Given the description of an element on the screen output the (x, y) to click on. 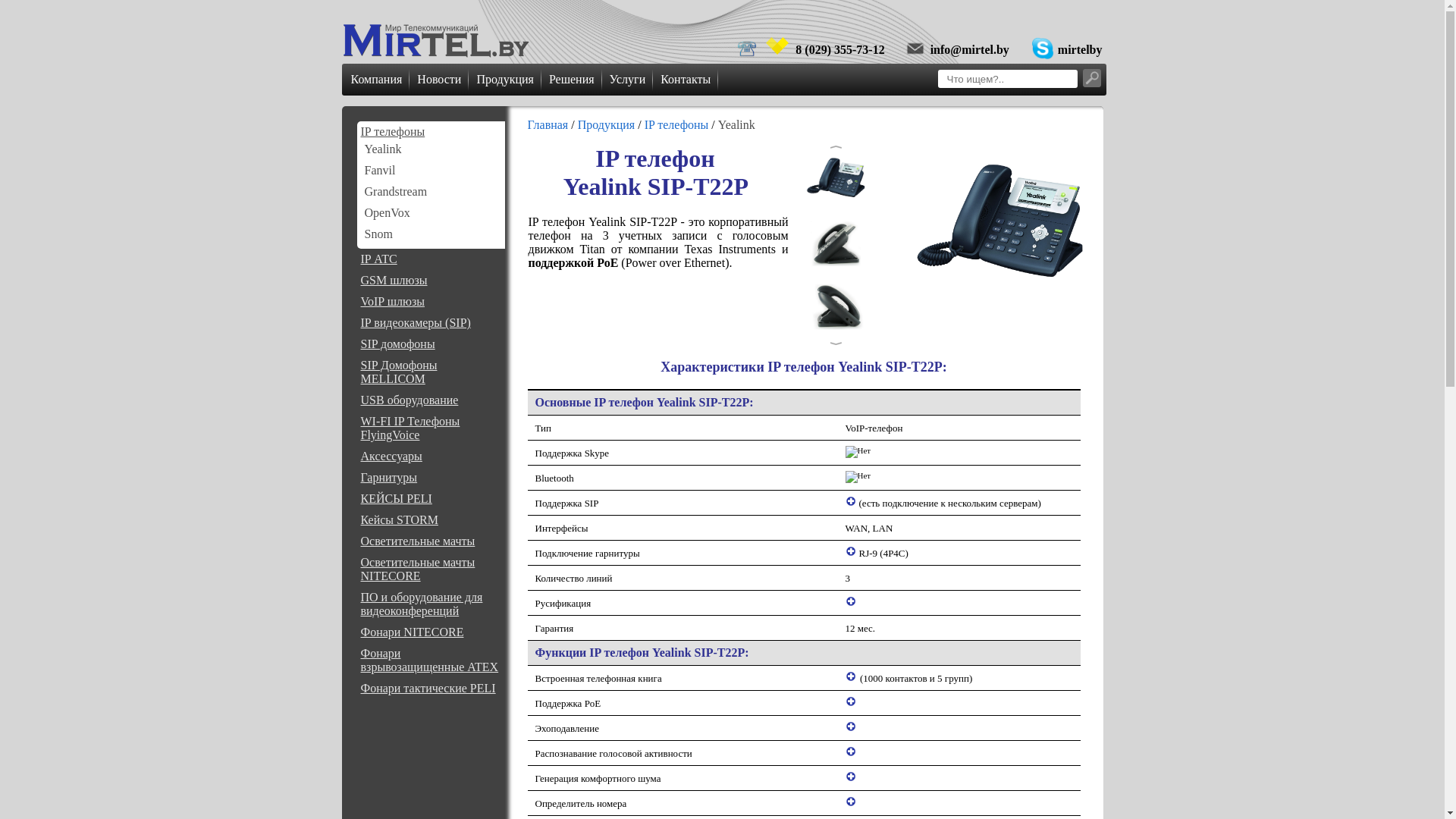
Snom Element type: text (378, 233)
w256h2561380453888Emails256x25632.png Element type: hover (914, 48)
telefon-skupki-2.png Element type: hover (746, 48)
Fanvil Element type: text (379, 169)
OpenVox Element type: text (386, 212)
telefon-skupki-2.png Element type: hover (1042, 48)
Grandstream Element type: text (395, 191)
velcom_logo_V_color.png Element type: hover (776, 45)
Yealink Element type: text (382, 148)
